Given the description of an element on the screen output the (x, y) to click on. 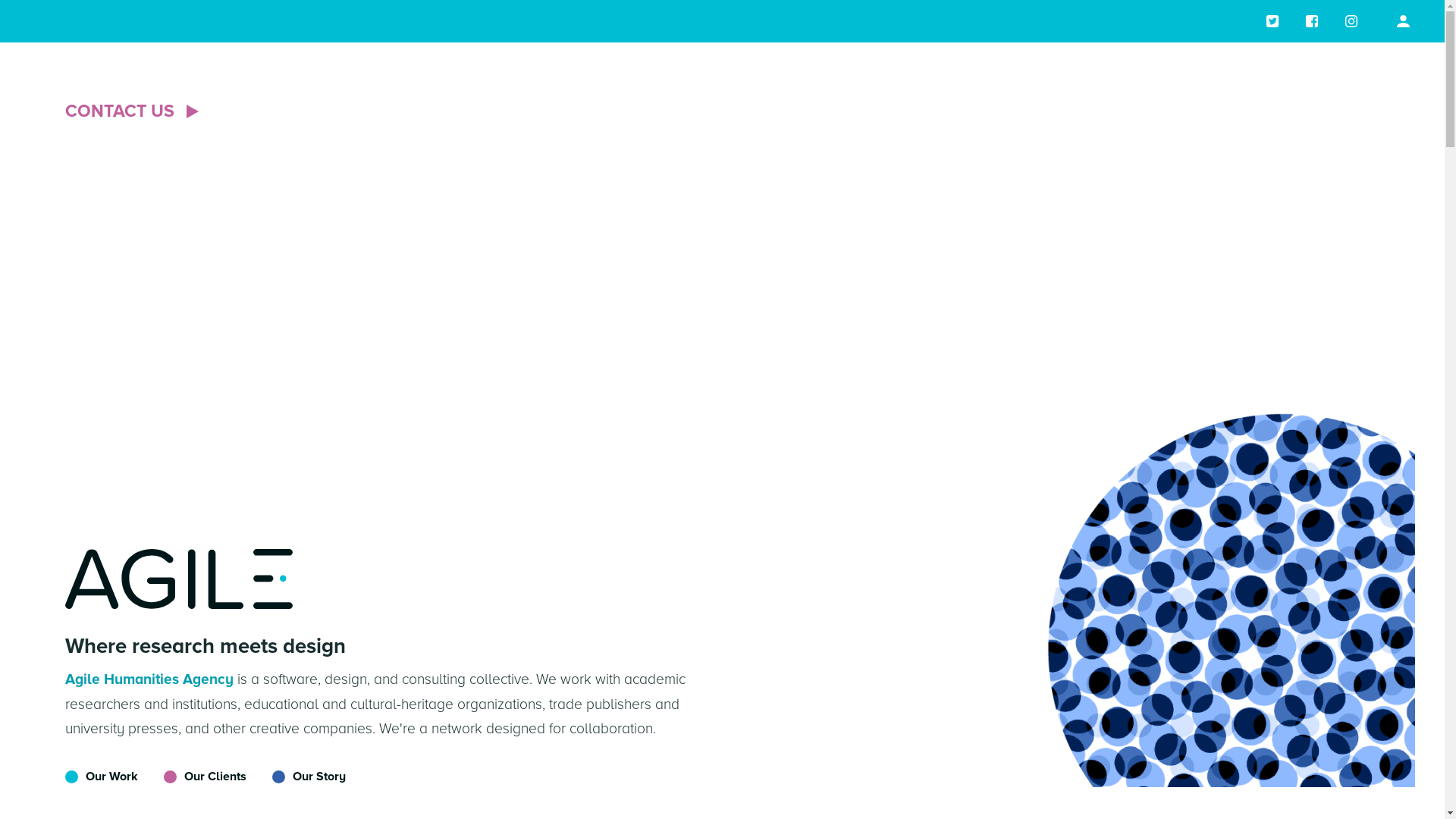
Instagram page Element type: hover (1350, 20)
Our Clients Element type: text (193, 776)
Our Story Element type: text (297, 776)
Twitter page Element type: hover (1272, 20)
CONTACT US Element type: text (134, 111)
profile page Element type: hover (1403, 20)
Our Work Element type: text (101, 776)
Skip to main content Element type: text (0, 0)
Facebook page Element type: hover (1311, 20)
